Given the description of an element on the screen output the (x, y) to click on. 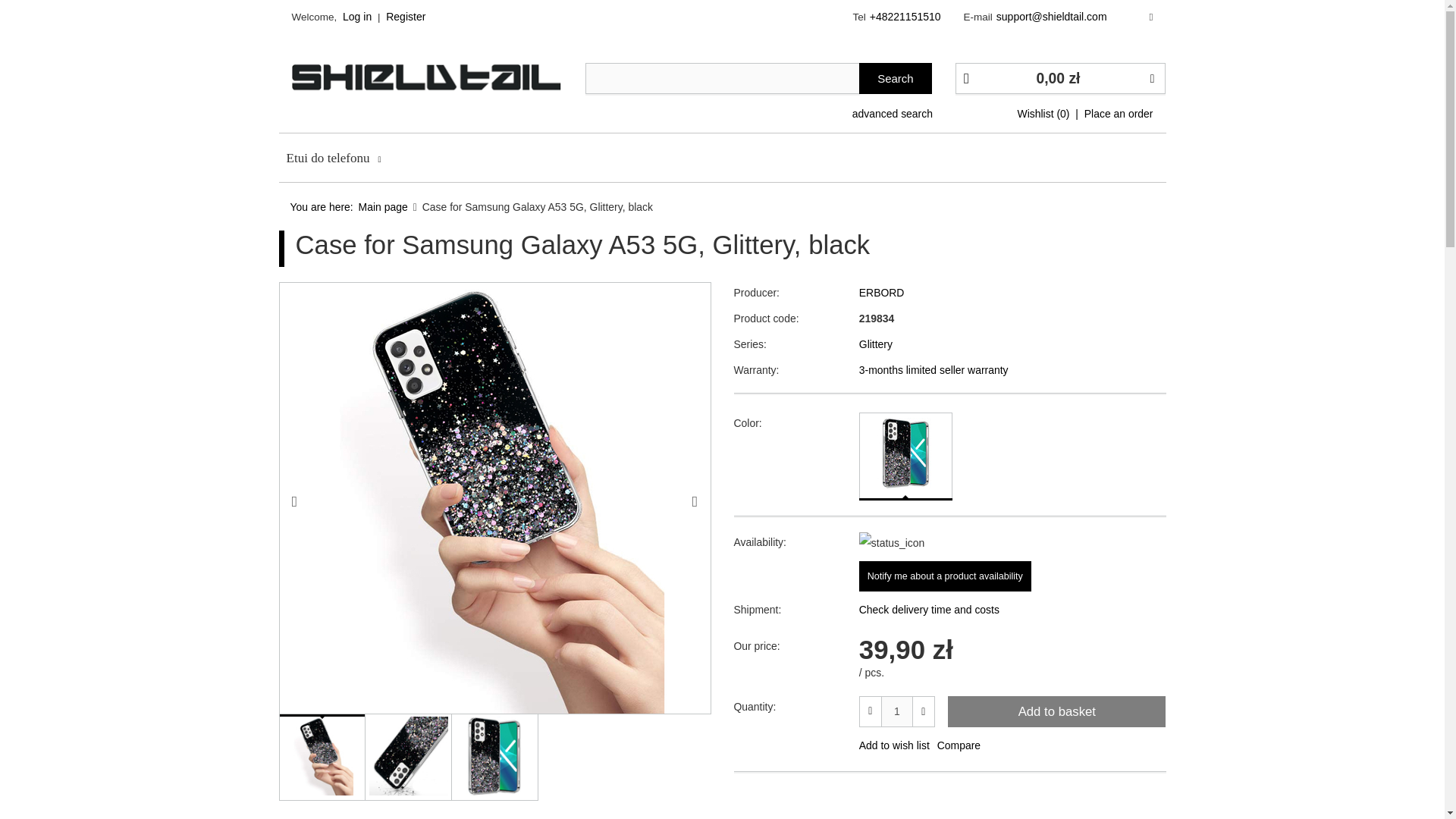
advanced search (892, 109)
Check delivery time and costs (1012, 608)
Add 1 item to shopping bag (1056, 711)
Register (405, 16)
1 (897, 711)
Log in (356, 16)
Add to wish list (894, 744)
Notify me about a product availability (944, 576)
Click to view all products from this series. (1012, 346)
